Given the description of an element on the screen output the (x, y) to click on. 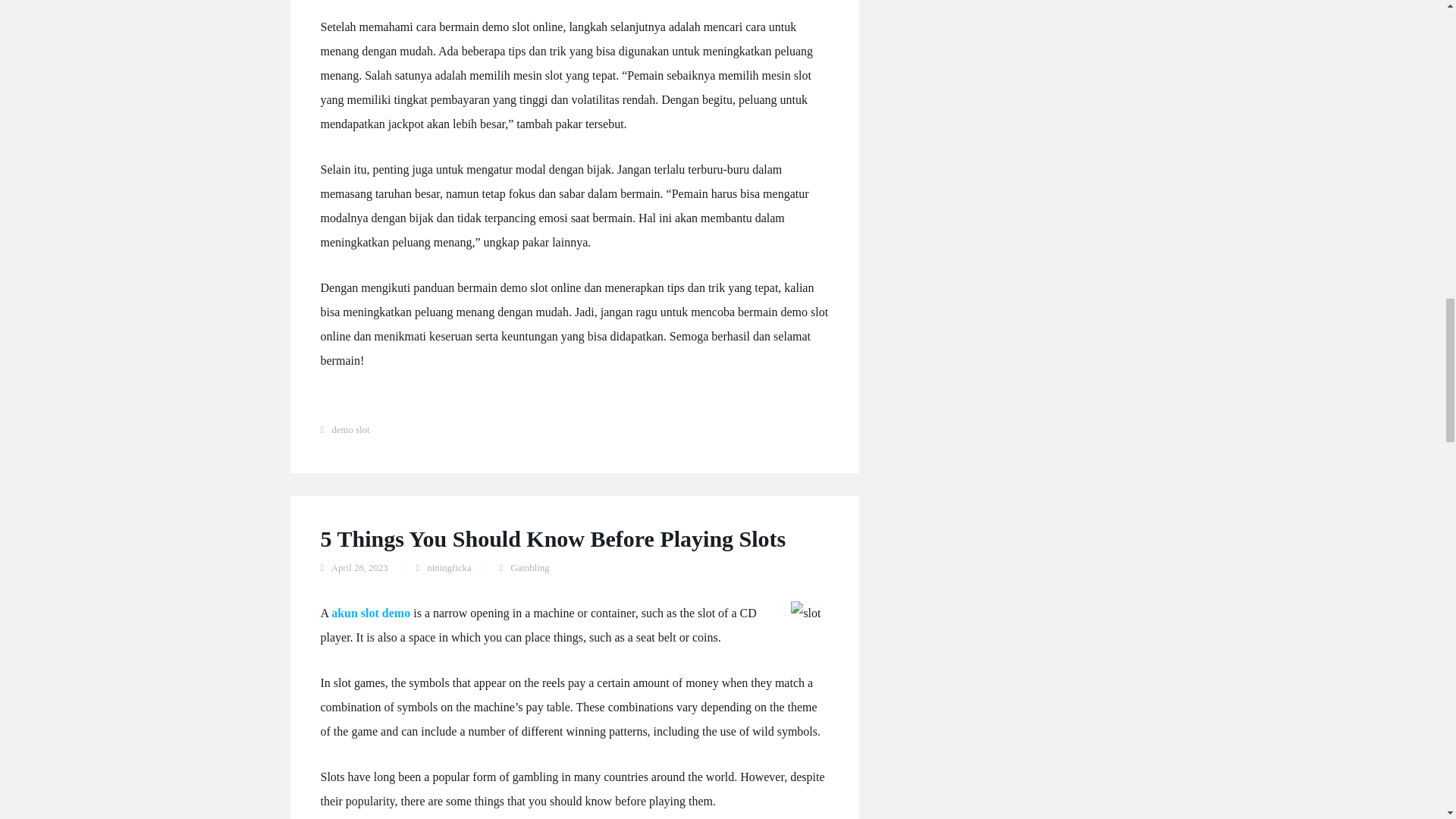
Gambling (529, 567)
5 Things You Should Know Before Playing Slots (553, 538)
akun slot demo (370, 612)
demo slot (350, 429)
April 28, 2023 (359, 567)
niningficka (448, 567)
